Given the description of an element on the screen output the (x, y) to click on. 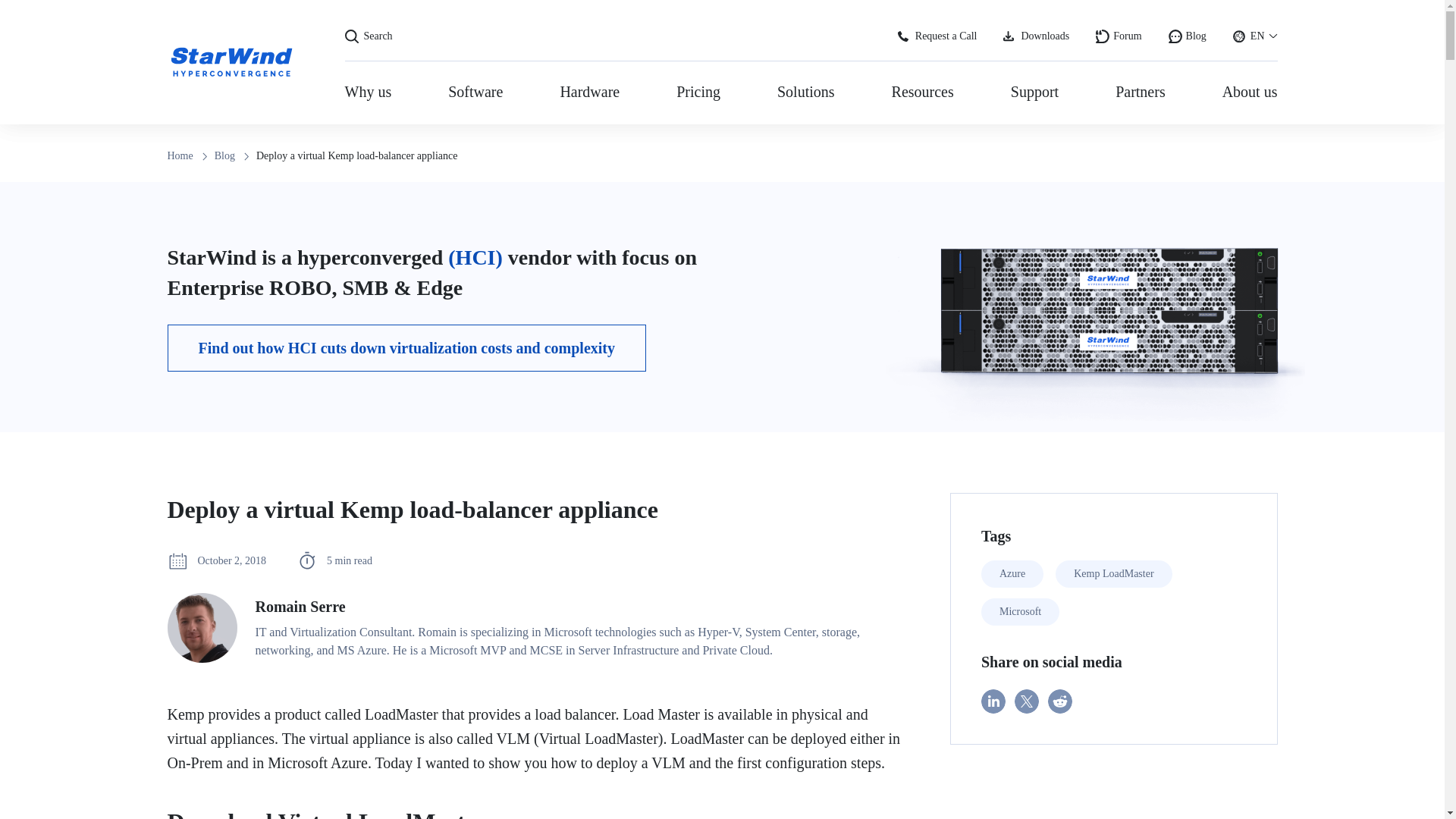
Share on Reddit (1059, 701)
Hardware (589, 92)
Share on X (1026, 701)
EN (1255, 30)
Software (475, 92)
Request a Call (937, 30)
Blog (1188, 30)
Forum (1118, 30)
Downloads (1035, 30)
Share on Linkedin (993, 701)
Search (1112, 656)
Why us (606, 30)
